Given the description of an element on the screen output the (x, y) to click on. 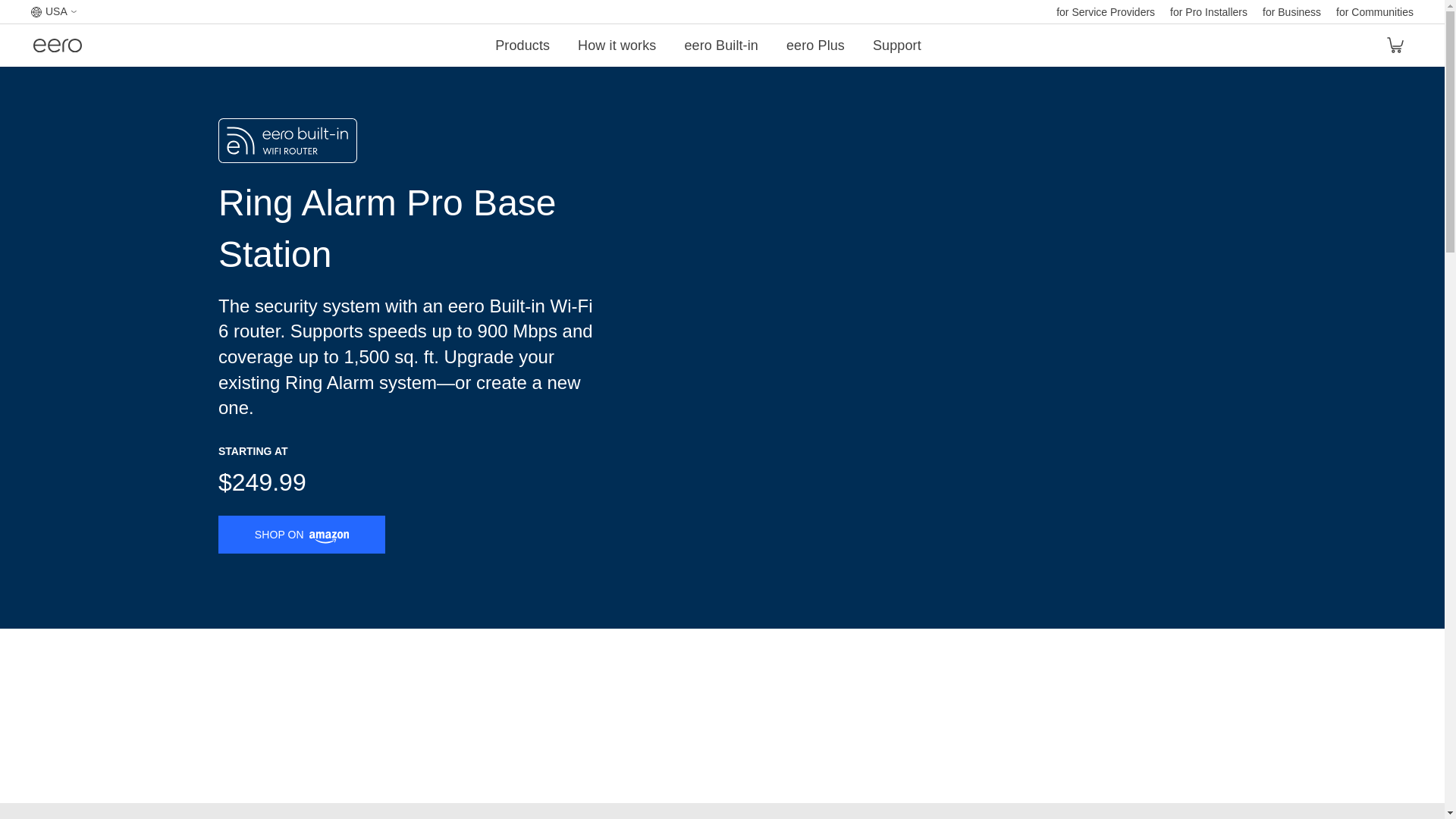
eero Built-in (720, 46)
for Pro Installers (1208, 11)
How it works (617, 46)
for Communities (1374, 11)
for Business (1291, 11)
eero (57, 47)
Products (522, 46)
Support (896, 46)
eero (57, 47)
eero Plus (815, 46)
